Given the description of an element on the screen output the (x, y) to click on. 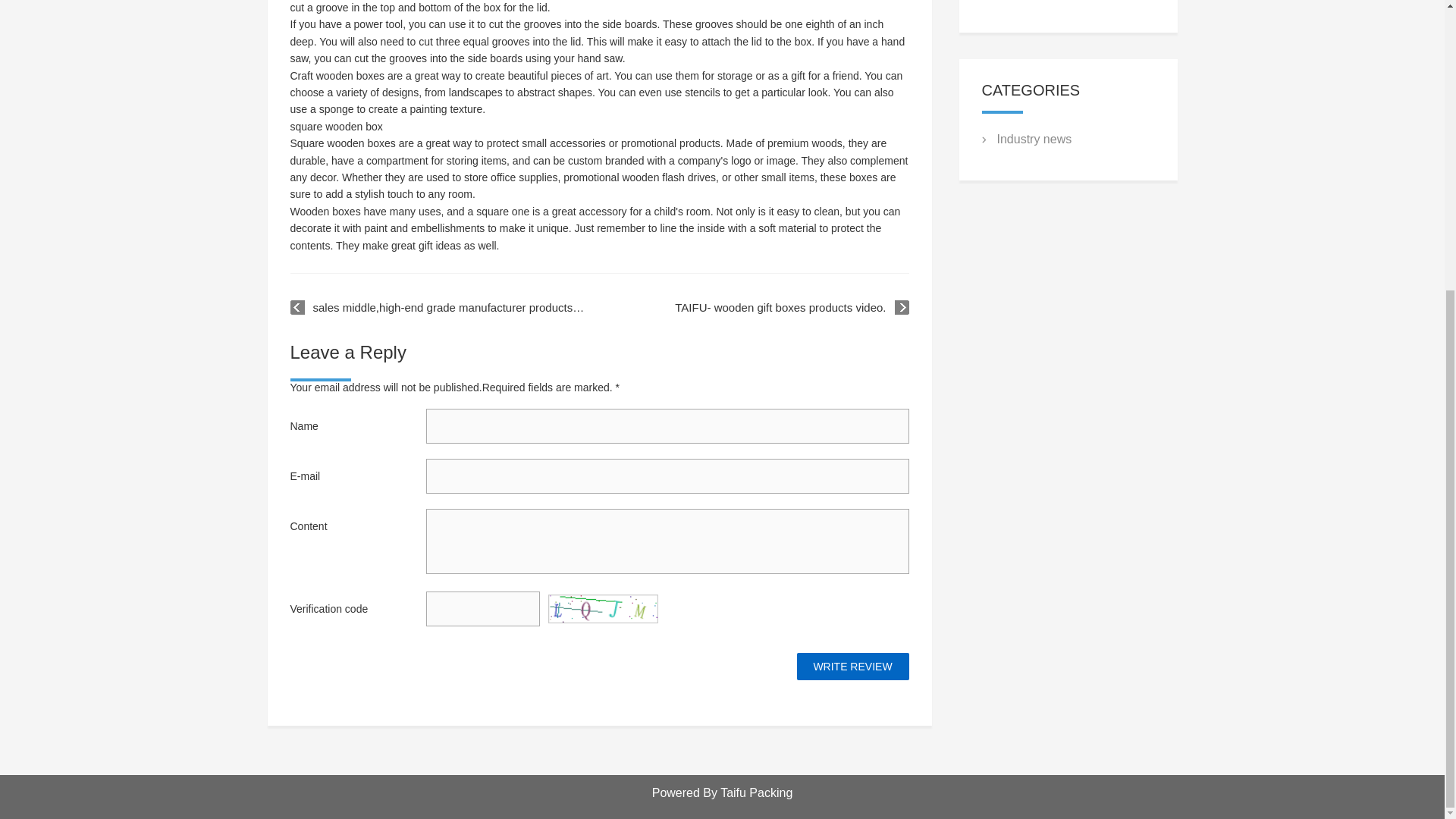
WRITE REVIEW (852, 666)
sales middle,high-end grade manufacturer products video (437, 307)
sales middle,high-end grade manufacturer products video (437, 307)
TAIFU- wooden gift boxes products video. (791, 307)
TAIFU- wooden gift boxes products video. (791, 307)
Industry news (1033, 138)
WRITE REVIEW (852, 666)
